Given the description of an element on the screen output the (x, y) to click on. 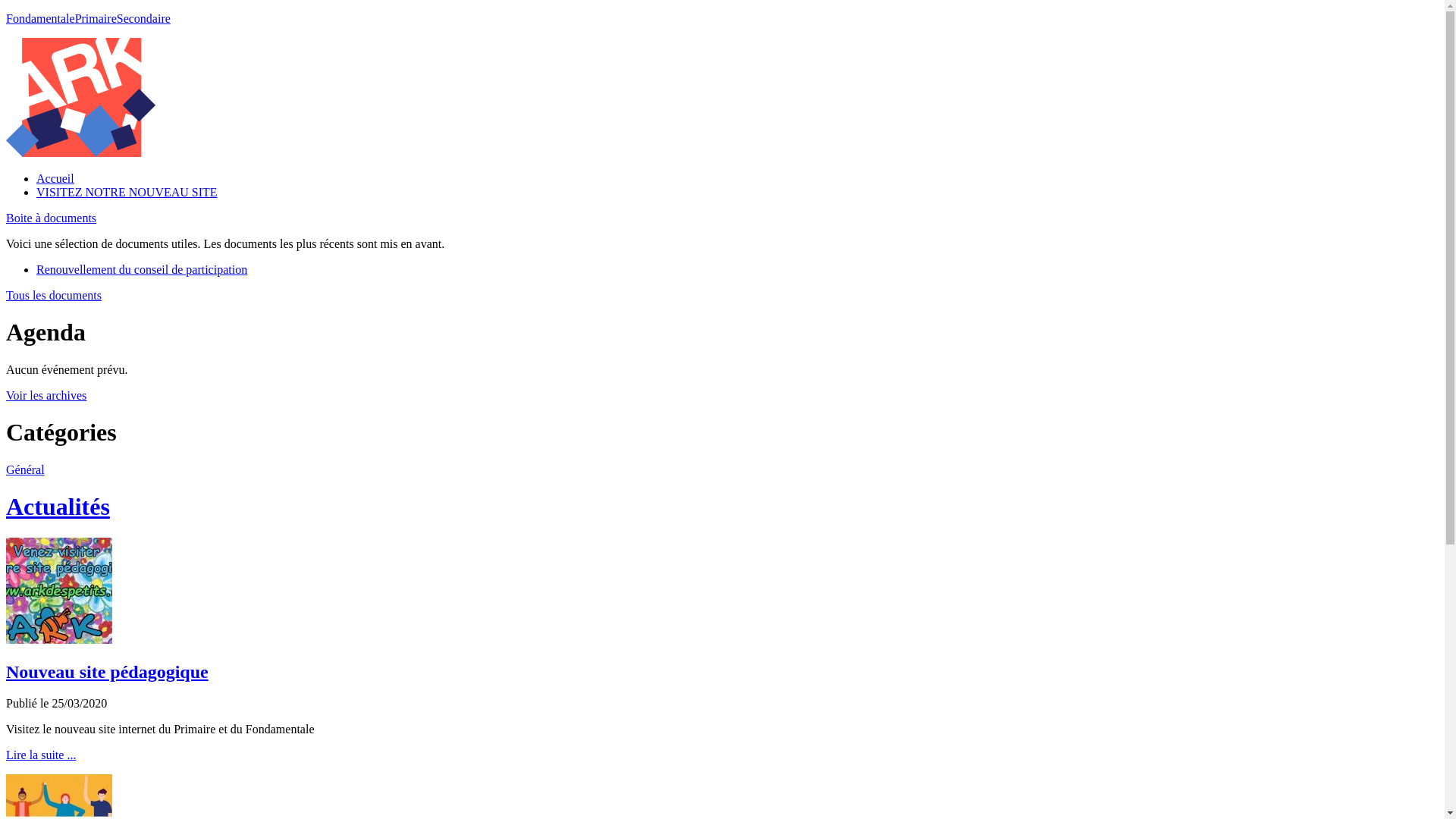
Secondaire Element type: text (143, 18)
Fondamentale Element type: text (40, 18)
Accueil Element type: text (55, 178)
Tous les documents Element type: text (53, 294)
Voir les archives Element type: text (46, 395)
VISITEZ NOTRE NOUVEAU SITE Element type: text (126, 191)
Lire la suite ... Element type: text (40, 754)
Renouvellement du conseil de participation Element type: text (141, 269)
Primaire Element type: text (95, 18)
